Given the description of an element on the screen output the (x, y) to click on. 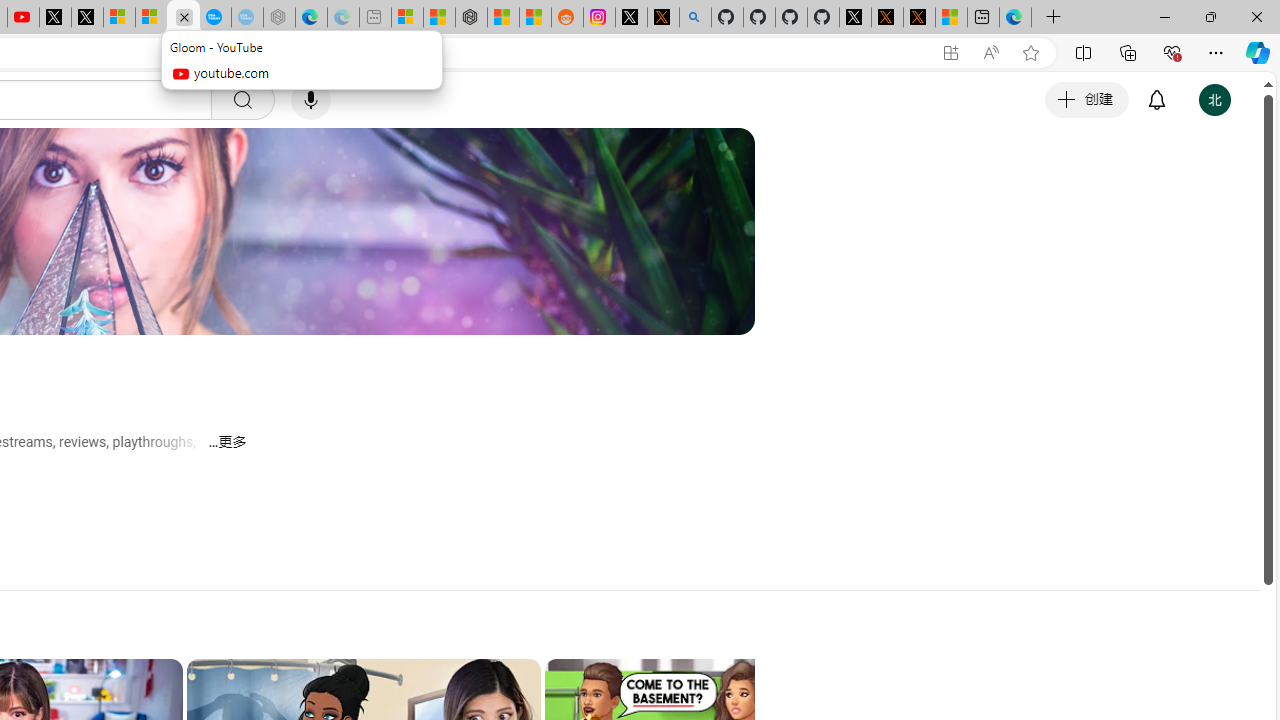
help.x.com | 524: A timeout occurred (663, 17)
Gloom - YouTube (182, 17)
Collections (1128, 52)
X (87, 17)
Browser essentials (1171, 52)
Minimize (1164, 16)
github - Search (694, 17)
Close tab (184, 16)
X Privacy Policy (919, 17)
Add this page to favorites (Ctrl+D) (1030, 53)
